Given the description of an element on the screen output the (x, y) to click on. 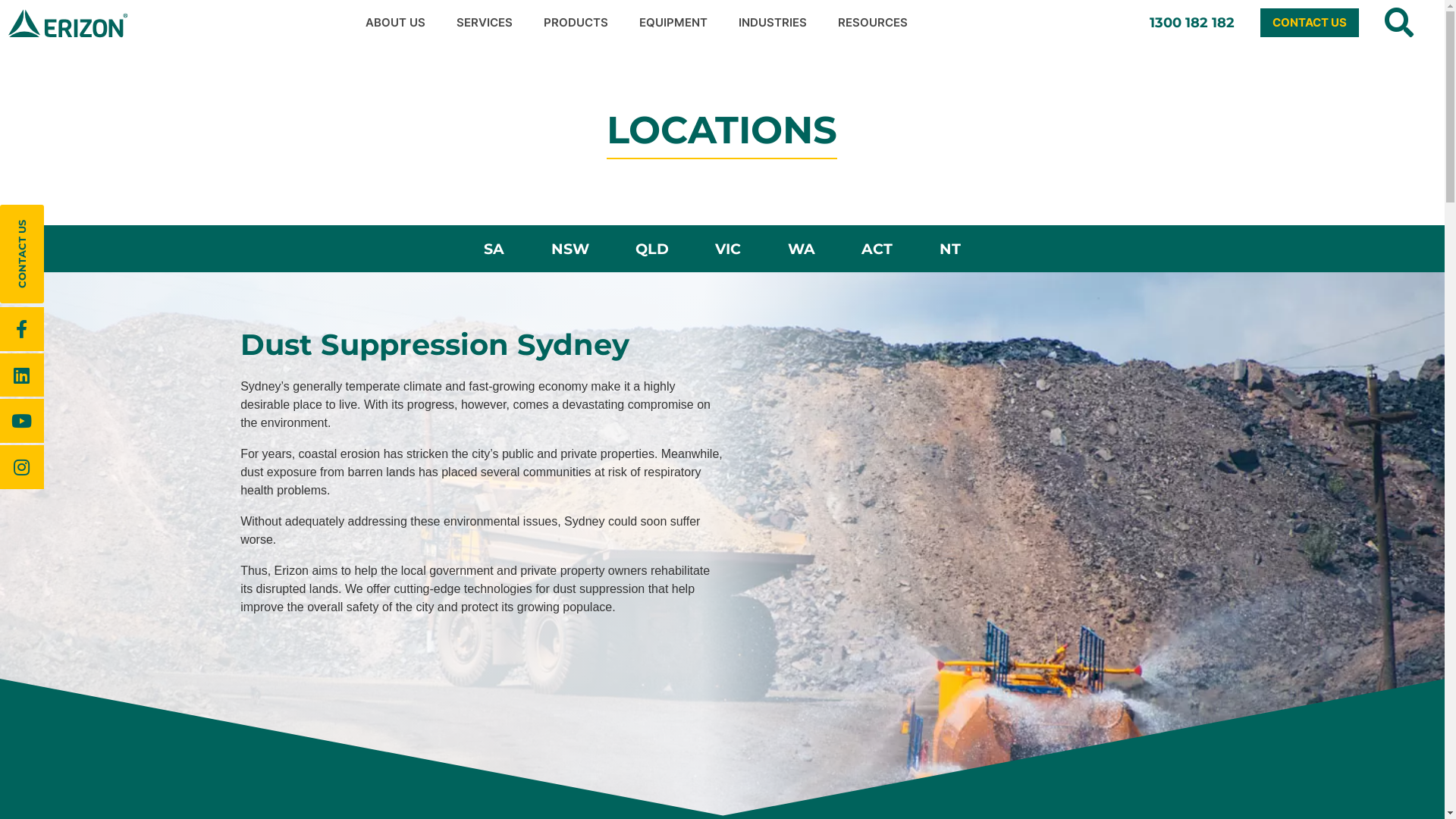
PRODUCTS Element type: text (579, 22)
ABOUT US Element type: text (399, 22)
1300 182 182 Element type: text (1191, 22)
INDUSTRIES Element type: text (776, 22)
CONTACT US Element type: text (1309, 22)
SERVICES Element type: text (488, 22)
QLD Element type: text (651, 248)
VIC Element type: text (728, 248)
CONTACT US Element type: text (21, 253)
NSW Element type: text (569, 248)
RESOURCES Element type: text (876, 22)
ACT Element type: text (877, 248)
SA Element type: text (493, 248)
EQUIPMENT Element type: text (677, 22)
NT Element type: text (949, 248)
WA Element type: text (800, 248)
